Given the description of an element on the screen output the (x, y) to click on. 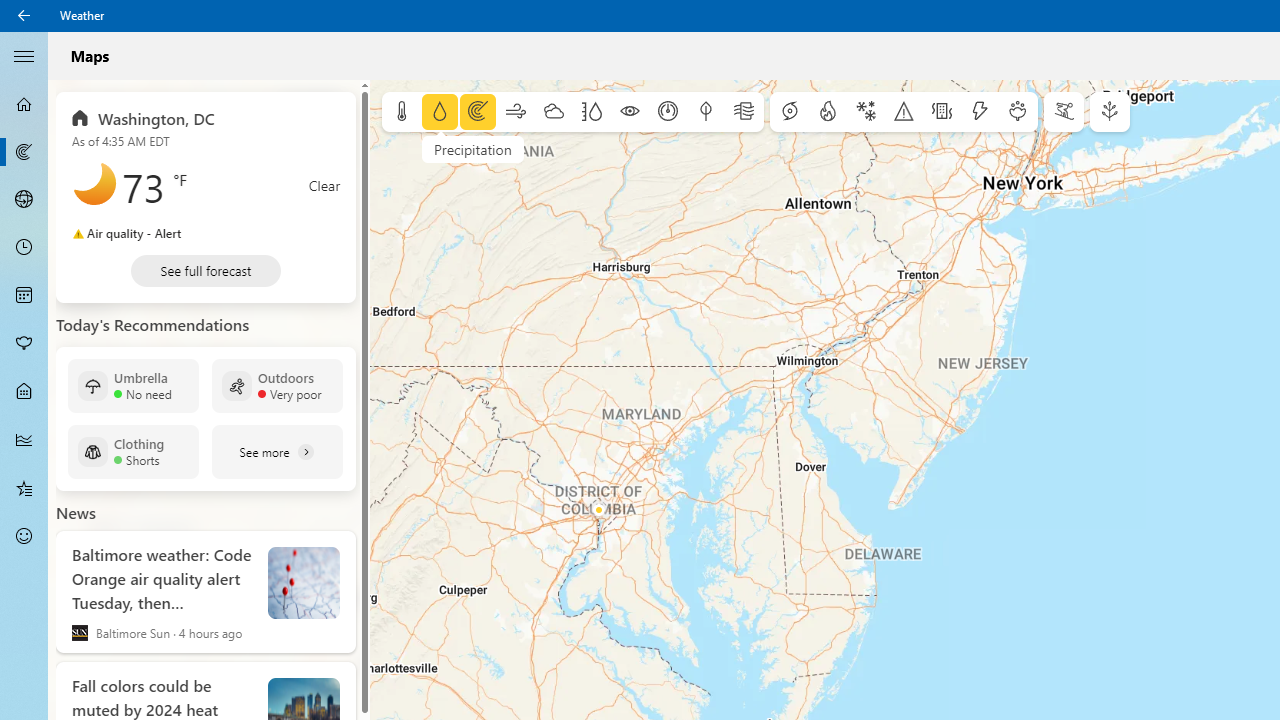
Collapse Navigation (24, 55)
Forecast - Not Selected (24, 103)
3D Maps - Not Selected (24, 199)
Historical Weather - Not Selected (24, 439)
Send Feedback - Not Selected (24, 535)
Back (24, 15)
3D Maps - Not Selected (24, 199)
Monthly Forecast - Not Selected (24, 295)
Pollen - Not Selected (24, 343)
Send Feedback - Not Selected (24, 535)
Monthly Forecast - Not Selected (24, 295)
Hourly Forecast - Not Selected (24, 247)
Favorites - Not Selected (24, 487)
Maps - Not Selected (24, 151)
Maps - Not Selected (24, 151)
